Given the description of an element on the screen output the (x, y) to click on. 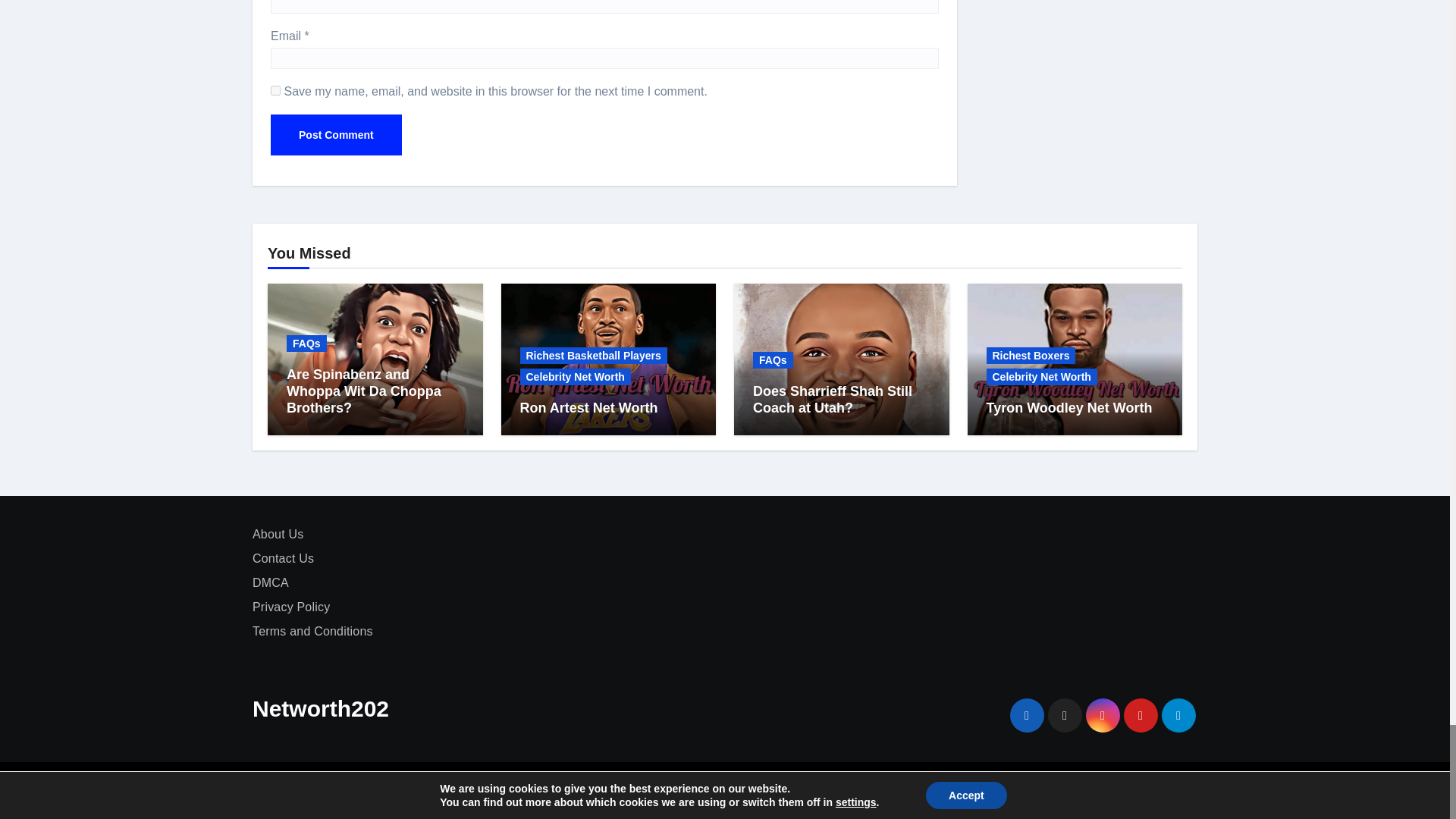
Permalink to: Does Sharrieff Shah Still Coach at Utah? (832, 399)
yes (275, 90)
Permalink to: Ron Artest Net Worth (588, 407)
Post Comment (335, 134)
Permalink to: Tyron Woodley Net Worth (1068, 407)
Home (775, 789)
